Given the description of an element on the screen output the (x, y) to click on. 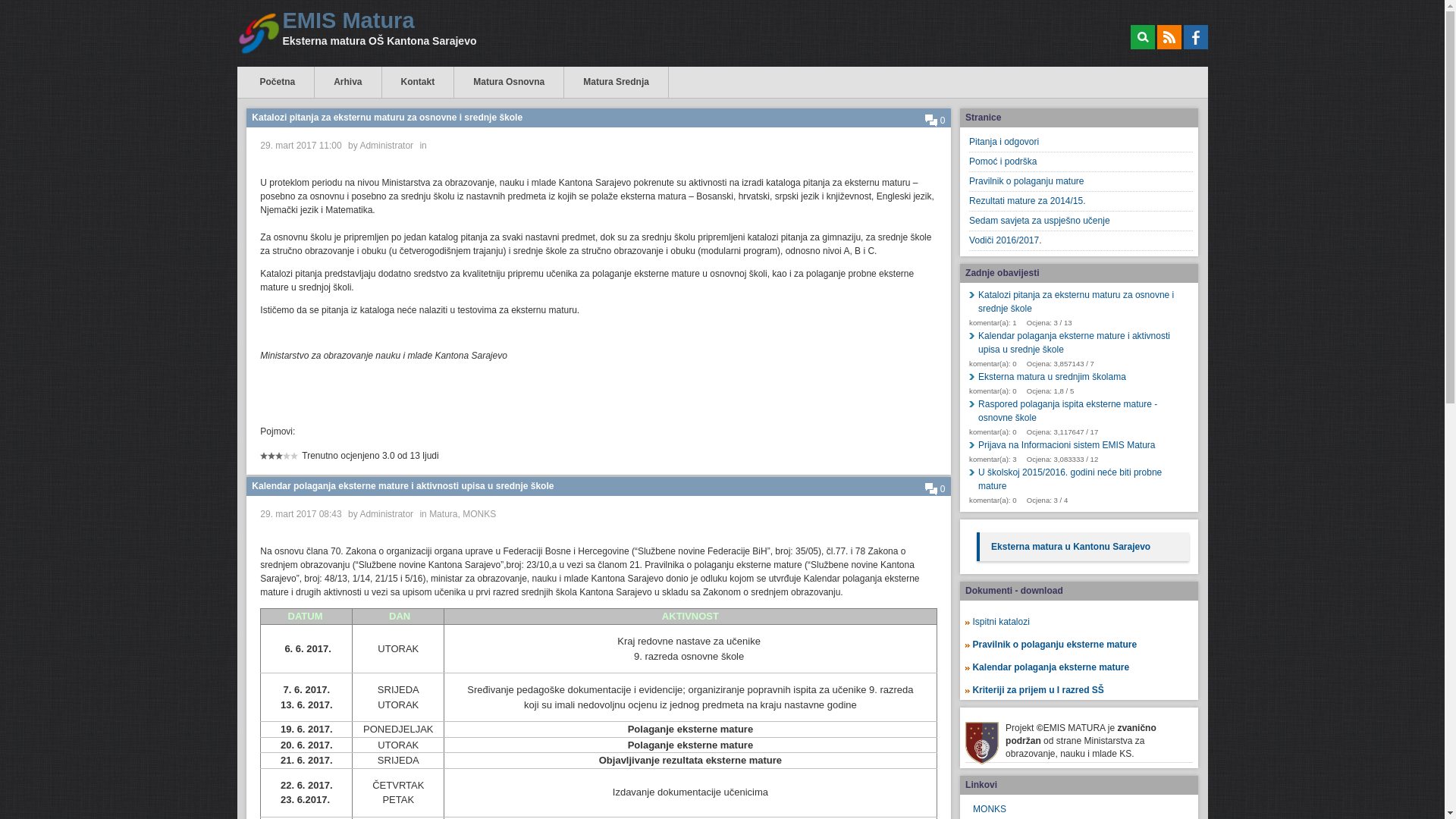
Arhiva Element type: text (347, 81)
4 Element type: text (275, 460)
0 Element type: text (935, 488)
Eksterna matura u Kantonu Sarajevo Element type: text (1070, 546)
Feed URL Element type: hover (1169, 37)
Pravilnik o polaganju eksterne mature Element type: text (1060, 644)
1 Element type: text (263, 460)
Administrator Element type: text (386, 513)
Kontakt Element type: text (418, 81)
Pitanja i odgovori Element type: text (1080, 141)
Administrator Element type: text (386, 145)
2 Element type: text (267, 460)
Kalendar polaganja eksterne mature Element type: text (1056, 667)
Matura Srednja Element type: text (616, 81)
EMIS Matura Element type: text (382, 20)
Matura Element type: text (443, 513)
Rezultati mature za 2014/15. Element type: text (1080, 200)
MONKS Element type: text (478, 513)
Prijava na Informacioni sistem EMIS Matura Element type: text (1080, 444)
3 Element type: text (271, 460)
5 Element type: text (279, 460)
Prati nas na Facebook-u! Element type: hover (1195, 37)
Pravilnik o polaganju mature Element type: text (1080, 181)
Matura Osnovna Element type: text (508, 81)
0 Element type: text (935, 120)
Ispitni katalozi Element type: text (1000, 621)
